Given the description of an element on the screen output the (x, y) to click on. 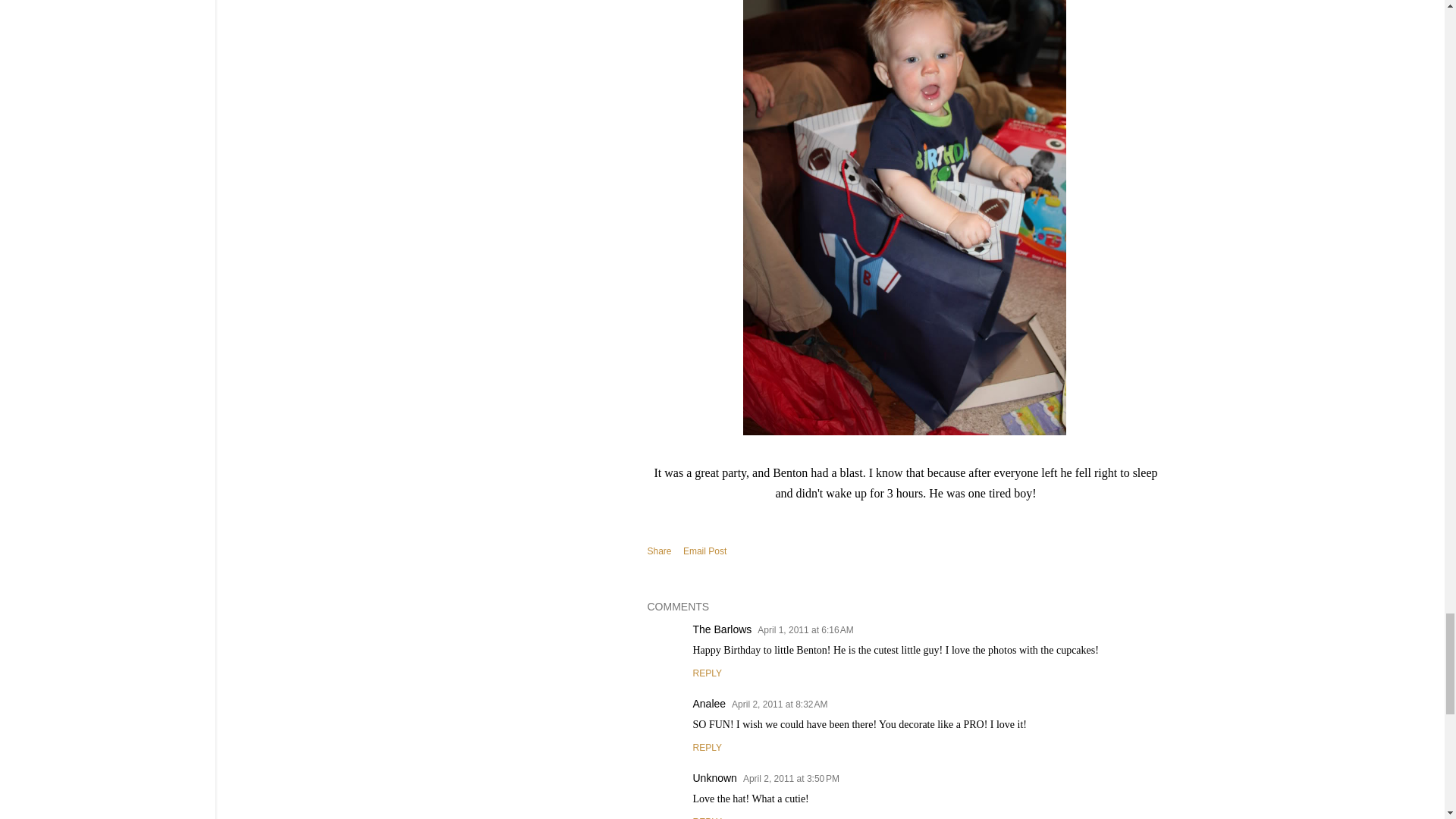
REPLY (707, 673)
Analee (709, 703)
REPLY (707, 817)
REPLY (707, 747)
Unknown (714, 777)
The Barlows (722, 629)
Share (659, 551)
Email Post (704, 550)
